Given the description of an element on the screen output the (x, y) to click on. 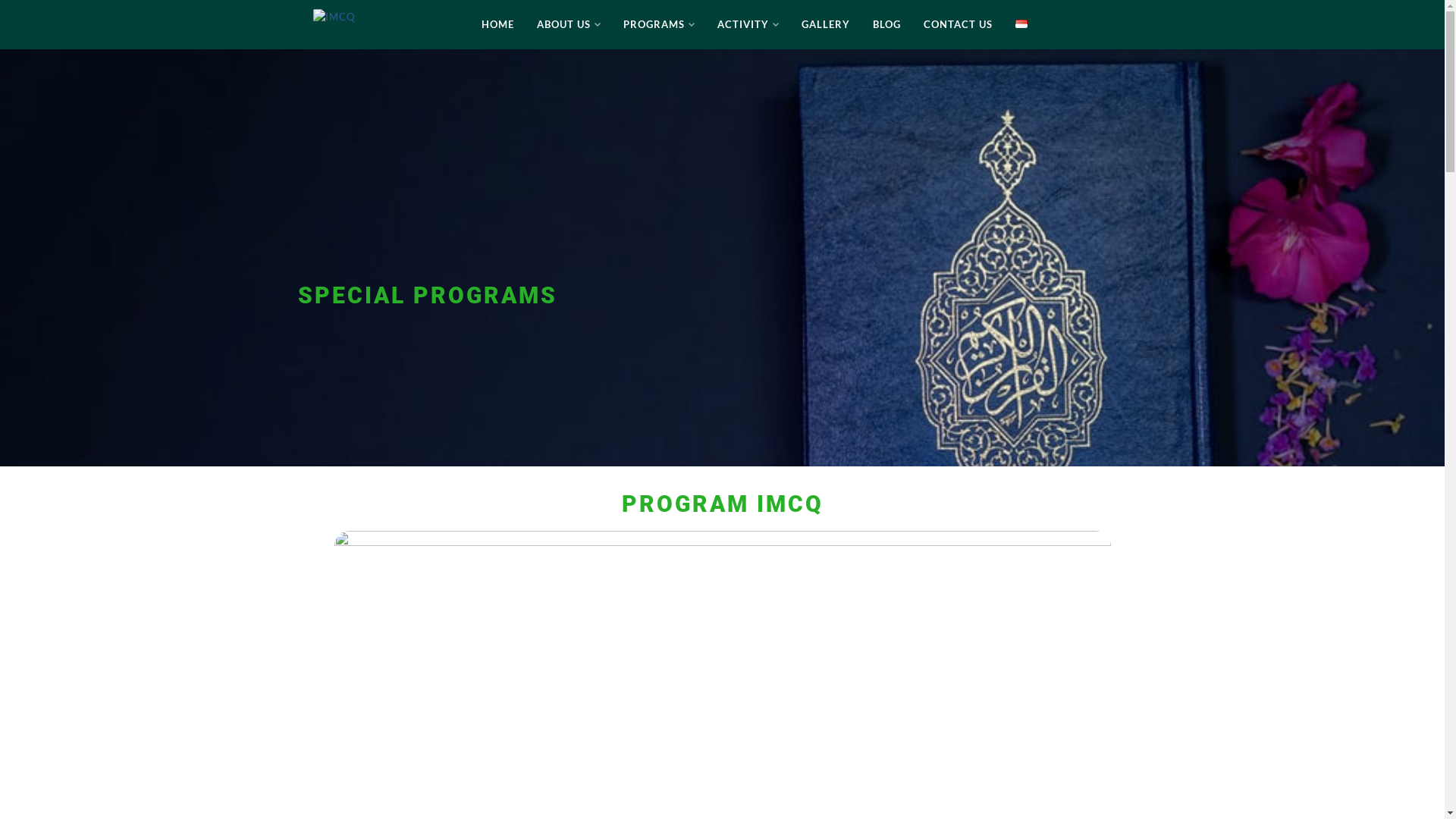
PROGRAMS Element type: text (658, 24)
BLOG Element type: text (886, 24)
HOME Element type: text (497, 24)
ABOUT US Element type: text (568, 24)
GALLERY Element type: text (825, 24)
CONTACT US Element type: text (958, 24)
ACTIVITY Element type: text (748, 24)
